Given the description of an element on the screen output the (x, y) to click on. 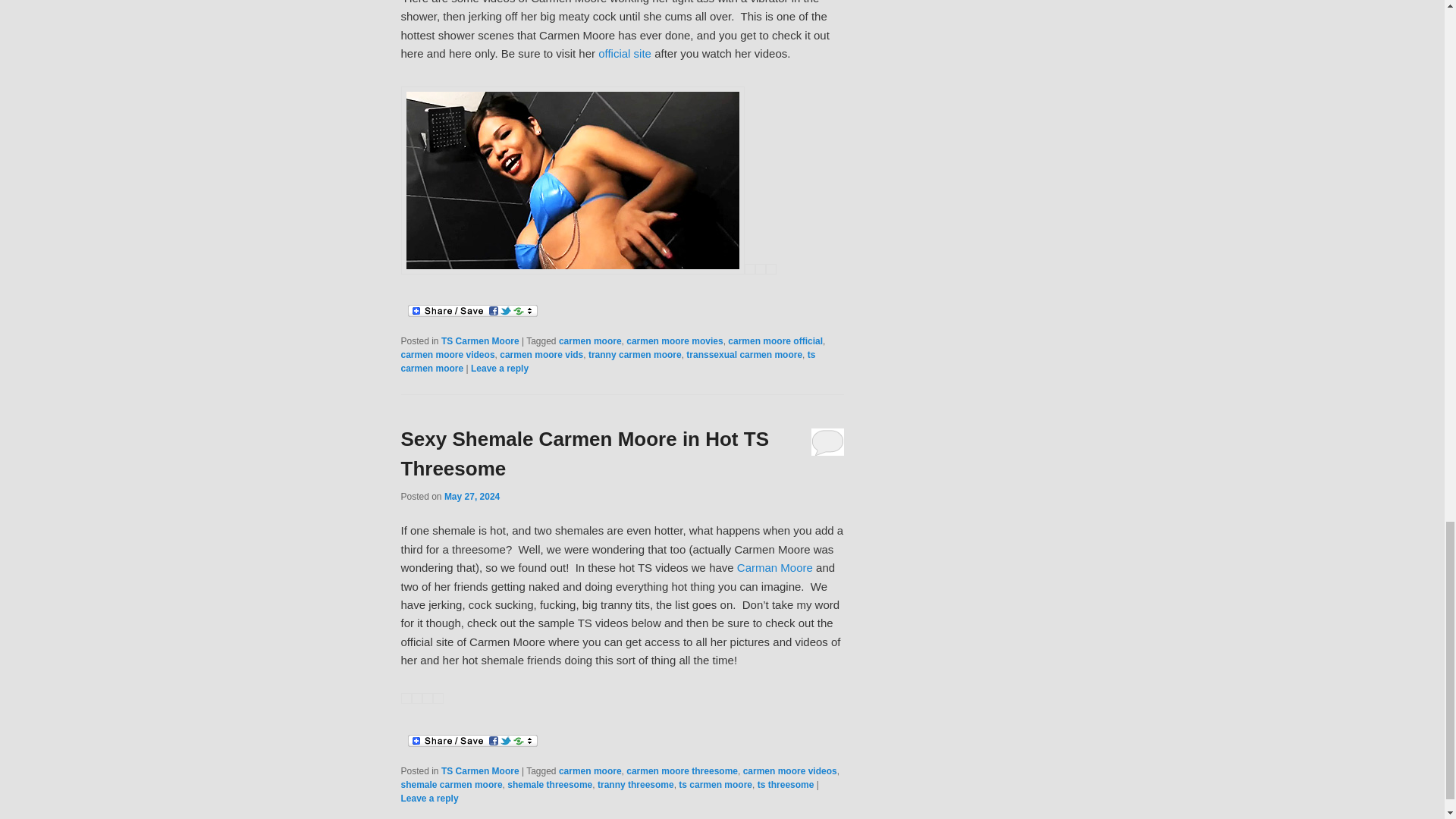
carmen moore official (775, 340)
TS Carmen Moore (480, 340)
carmen moore (590, 340)
carmen moore movies (674, 340)
official site (624, 52)
